Given the description of an element on the screen output the (x, y) to click on. 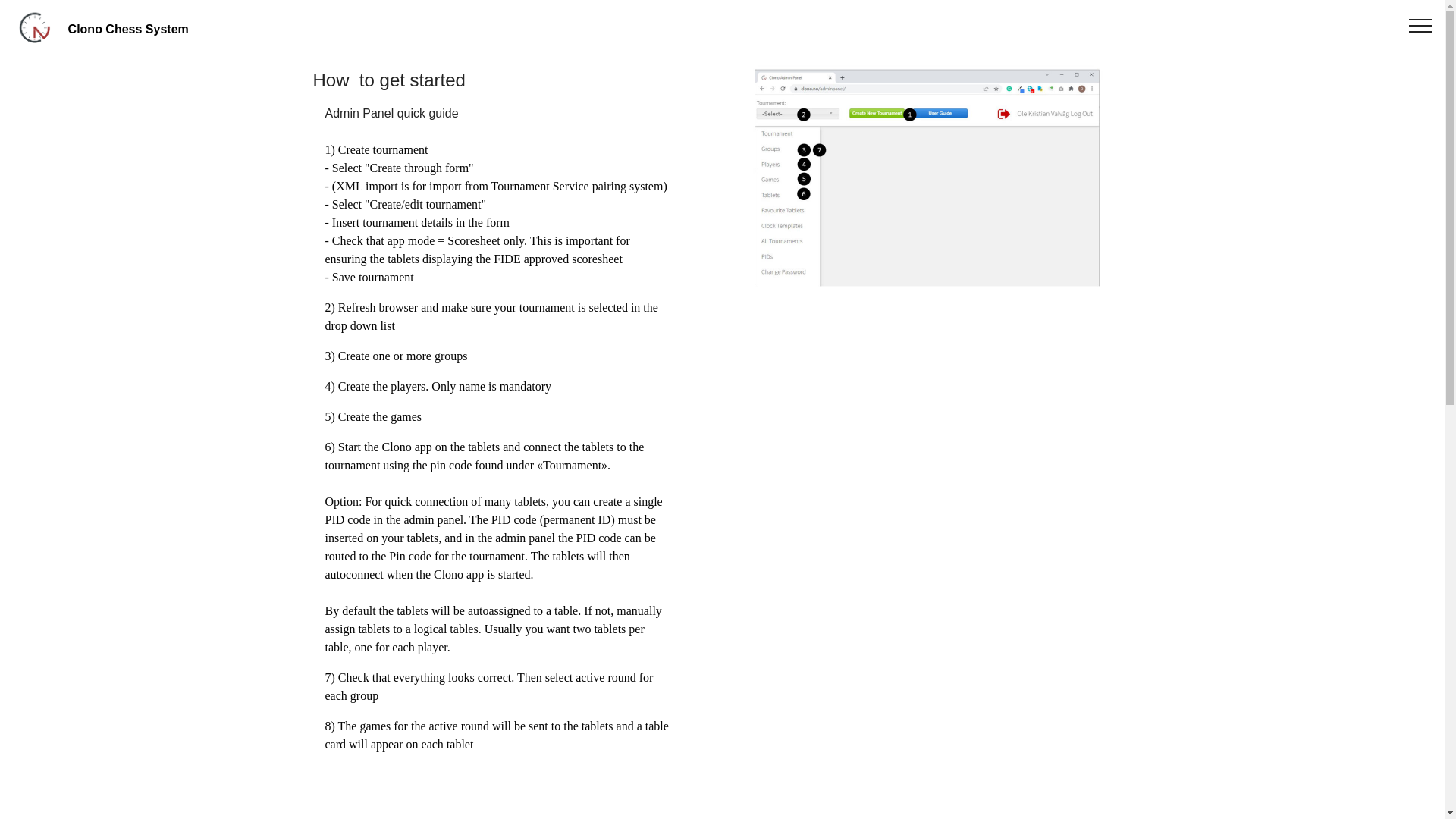
Clono Chess System (140, 29)
